Given the description of an element on the screen output the (x, y) to click on. 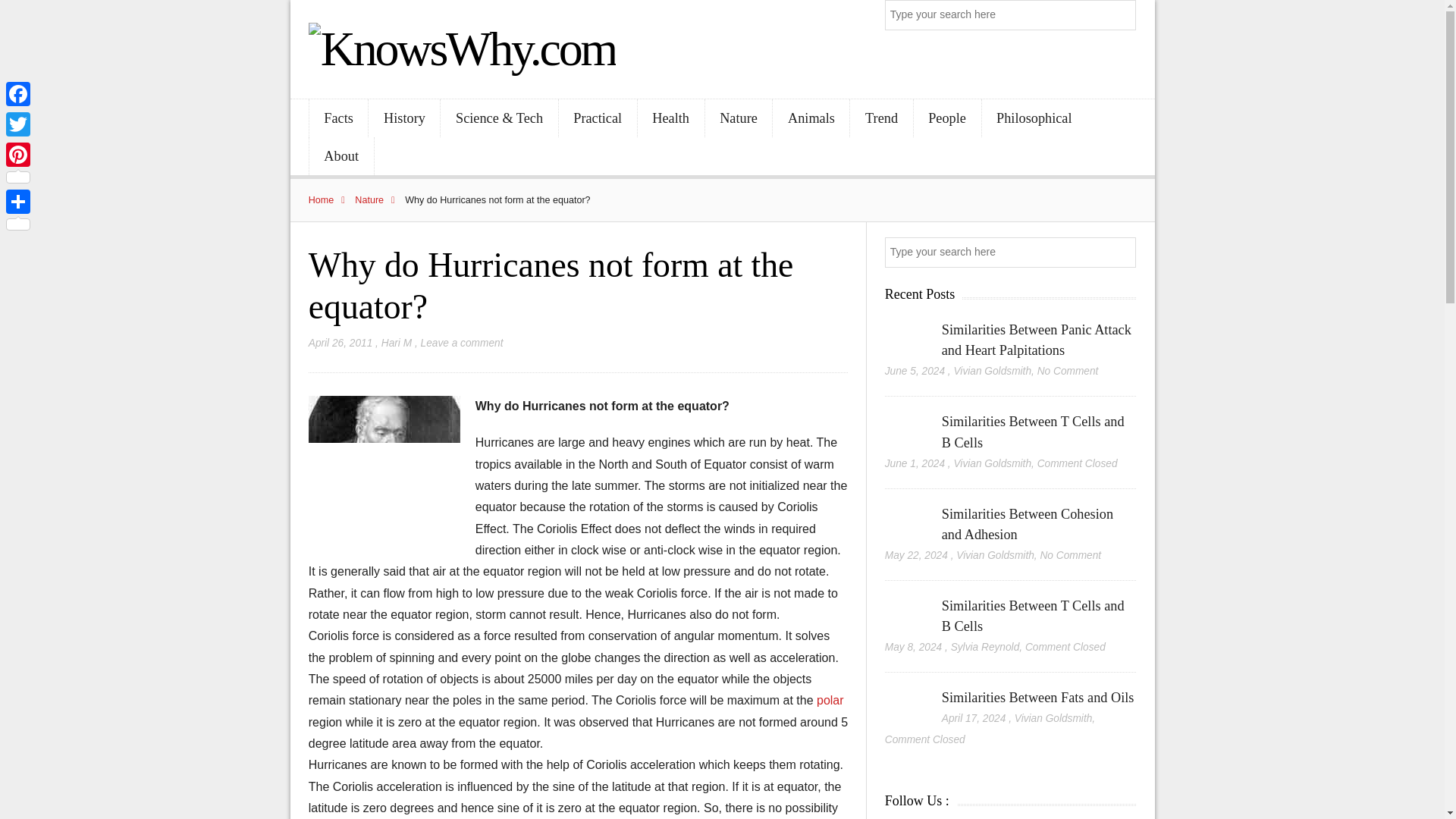
Nature (738, 118)
Animals (810, 118)
Health (670, 118)
Posts by Hari M (396, 342)
Hari M (396, 342)
People (947, 118)
WHY IS OF2 POLAR (830, 699)
Search (1123, 15)
Leave a comment (461, 342)
Trend (881, 118)
